Given the description of an element on the screen output the (x, y) to click on. 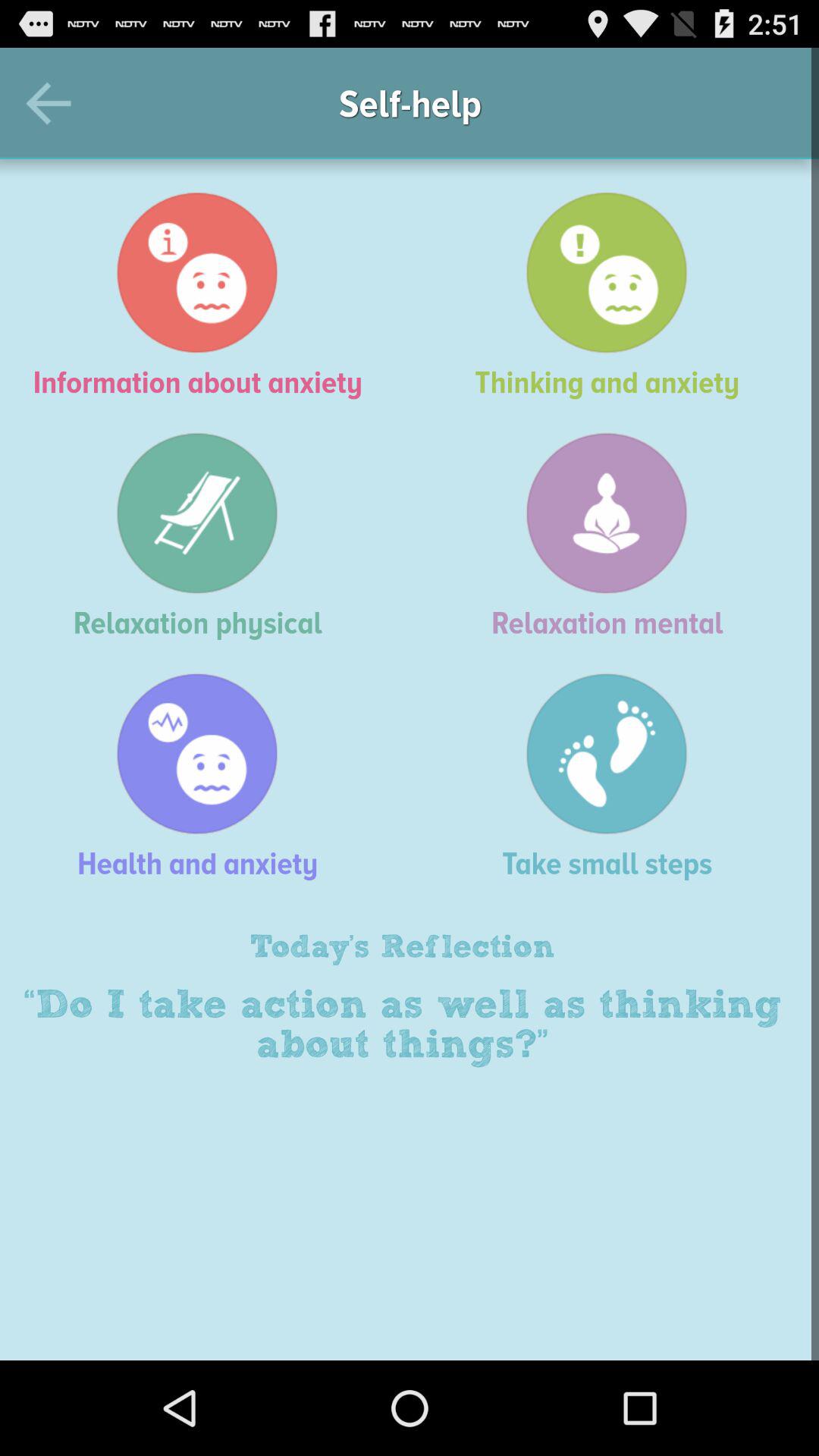
jump to relaxation physical item (204, 535)
